Given the description of an element on the screen output the (x, y) to click on. 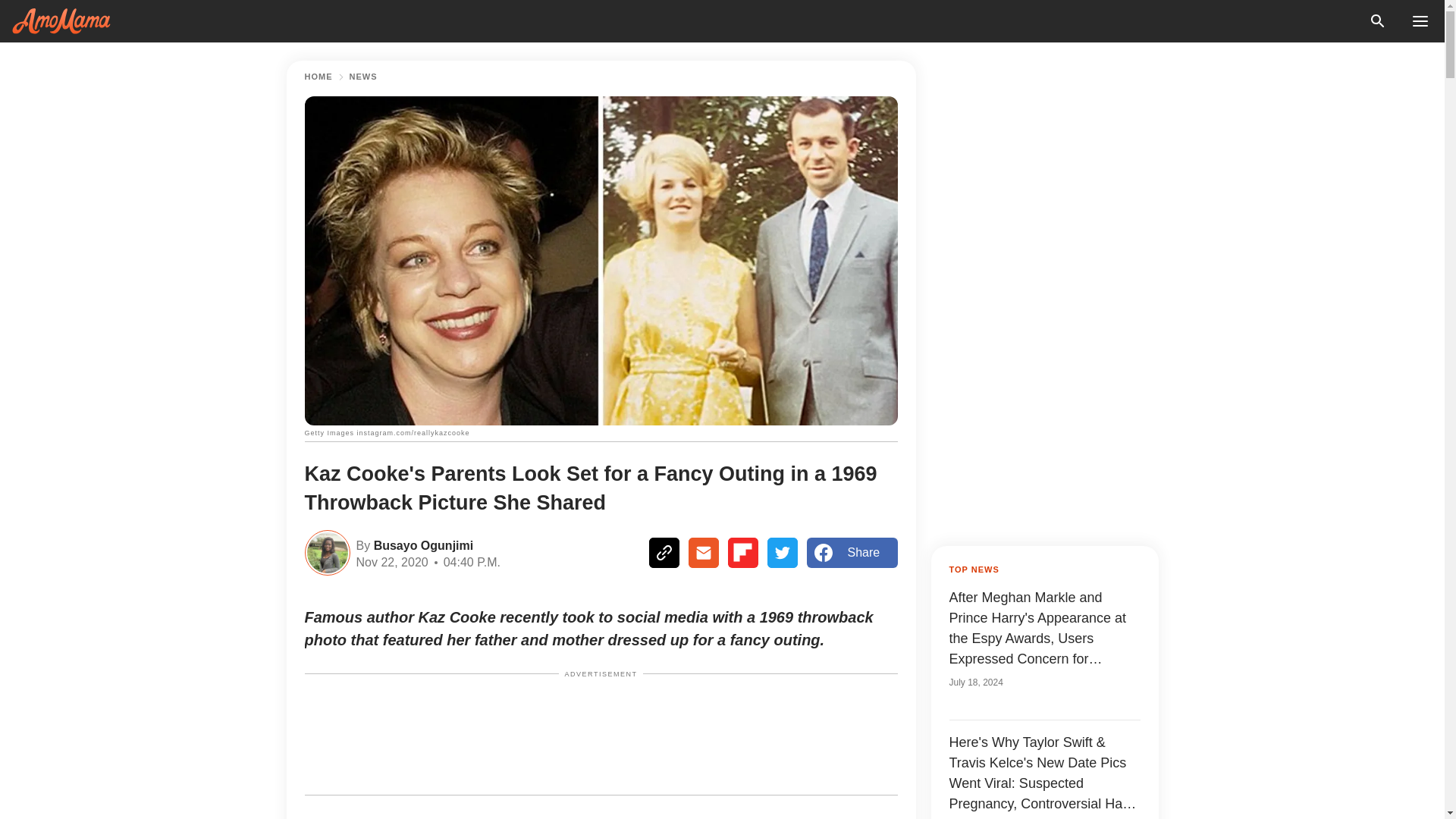
NEWS (363, 76)
Busayo Ogunjimi (421, 544)
HOME (318, 76)
